Given the description of an element on the screen output the (x, y) to click on. 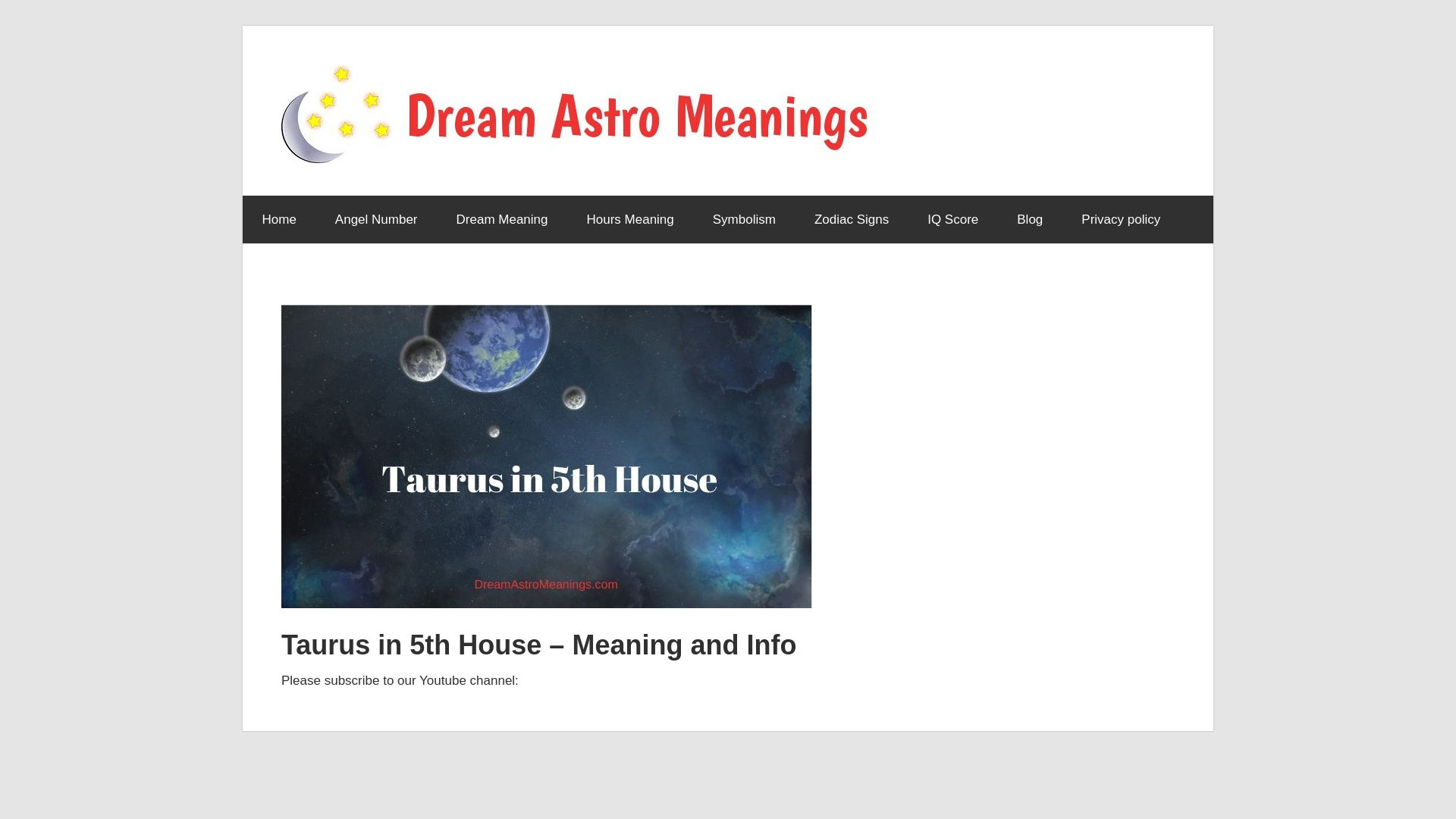
Zodiac Signs (850, 219)
Home (279, 219)
IQ Score (952, 219)
Angel Number (375, 219)
Blog (1029, 219)
Hours Meaning (630, 219)
Symbolism (743, 219)
Privacy policy (1120, 219)
Dream Meaning (501, 219)
